Given the description of an element on the screen output the (x, y) to click on. 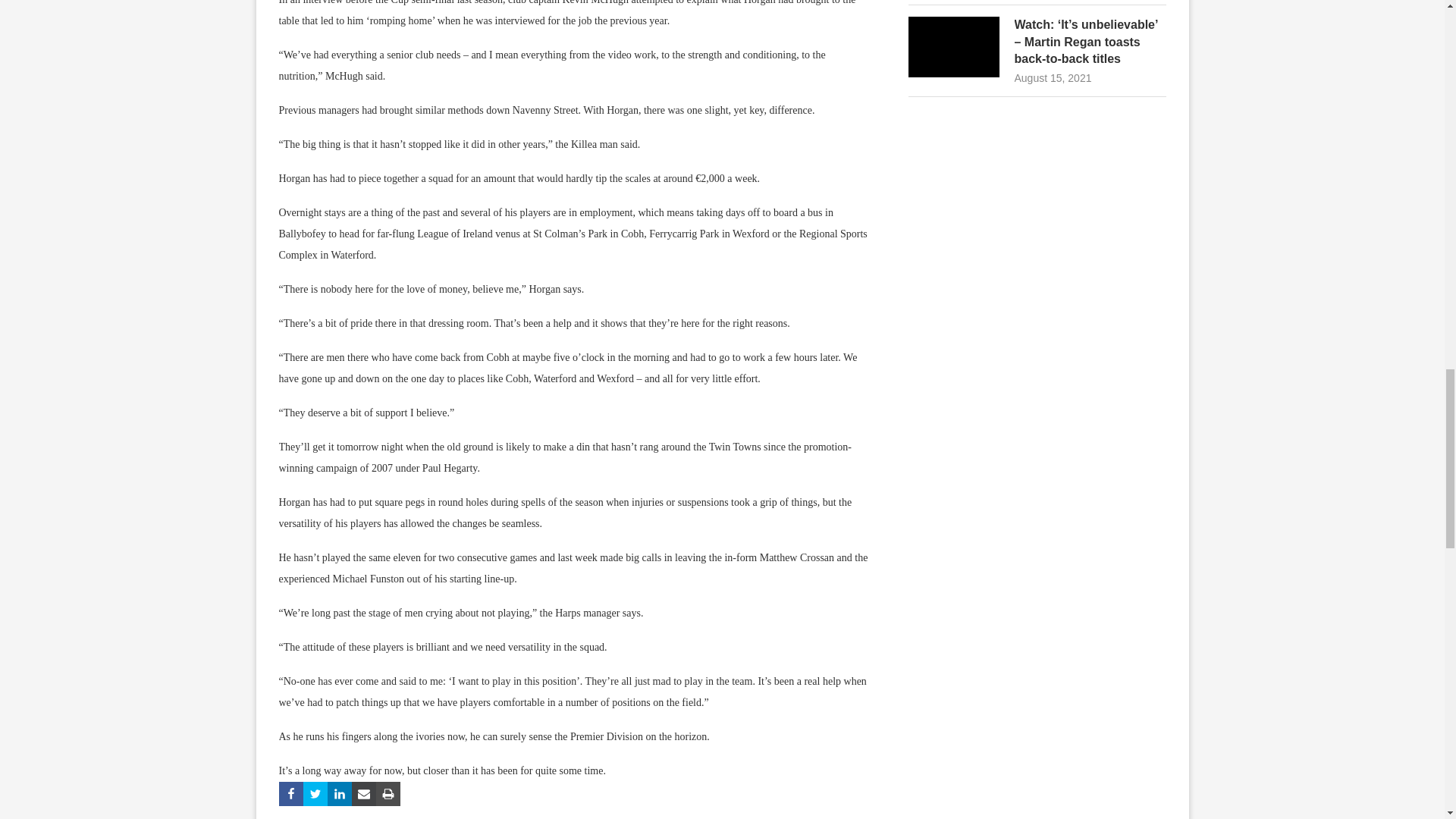
Print this Page (387, 793)
Share on Twitter (314, 793)
Share via Email (363, 793)
Share on LinkedIn (339, 793)
Share on Facebook (290, 793)
